Given the description of an element on the screen output the (x, y) to click on. 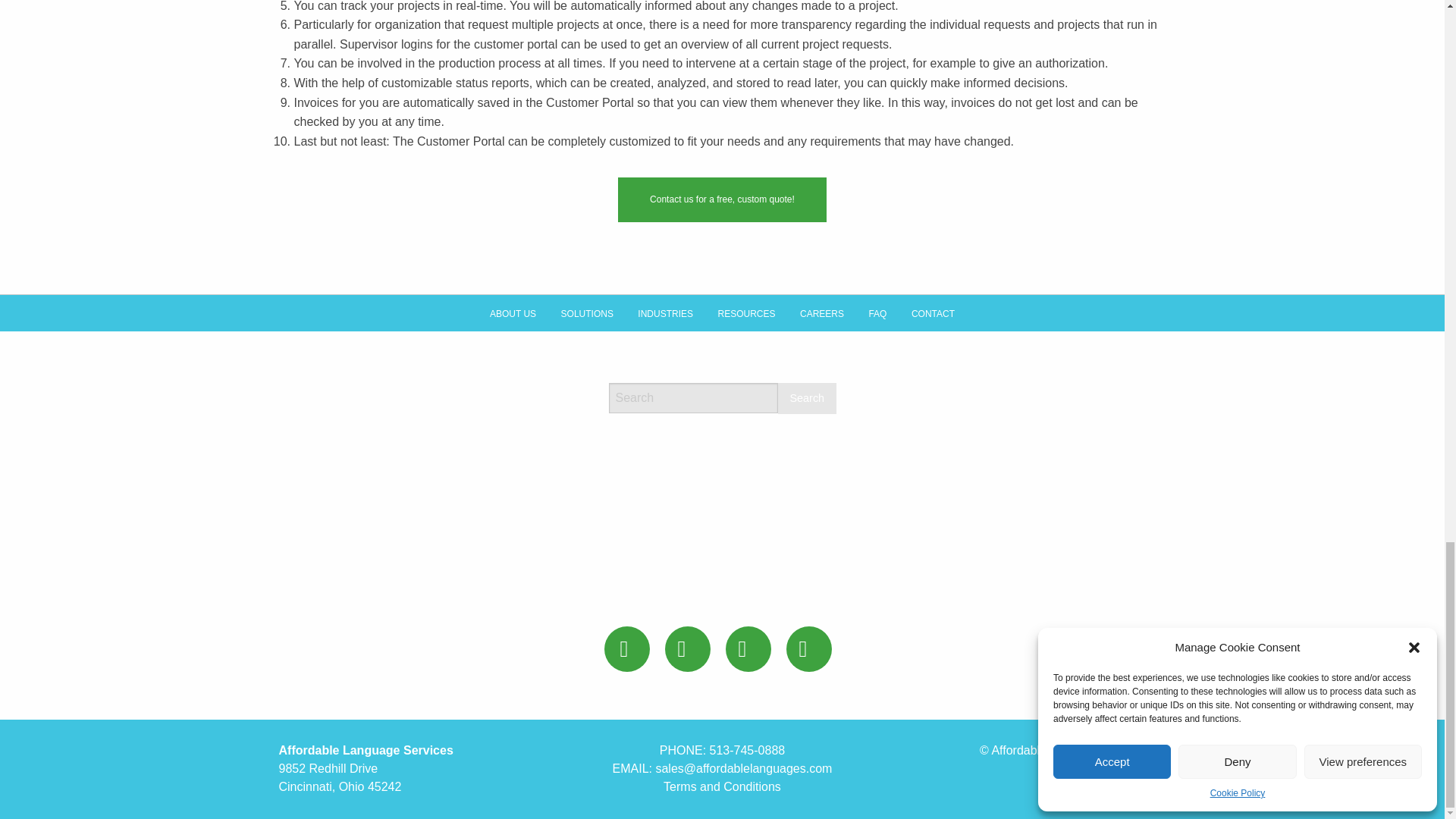
Search (806, 398)
Contact Us (722, 199)
